Given the description of an element on the screen output the (x, y) to click on. 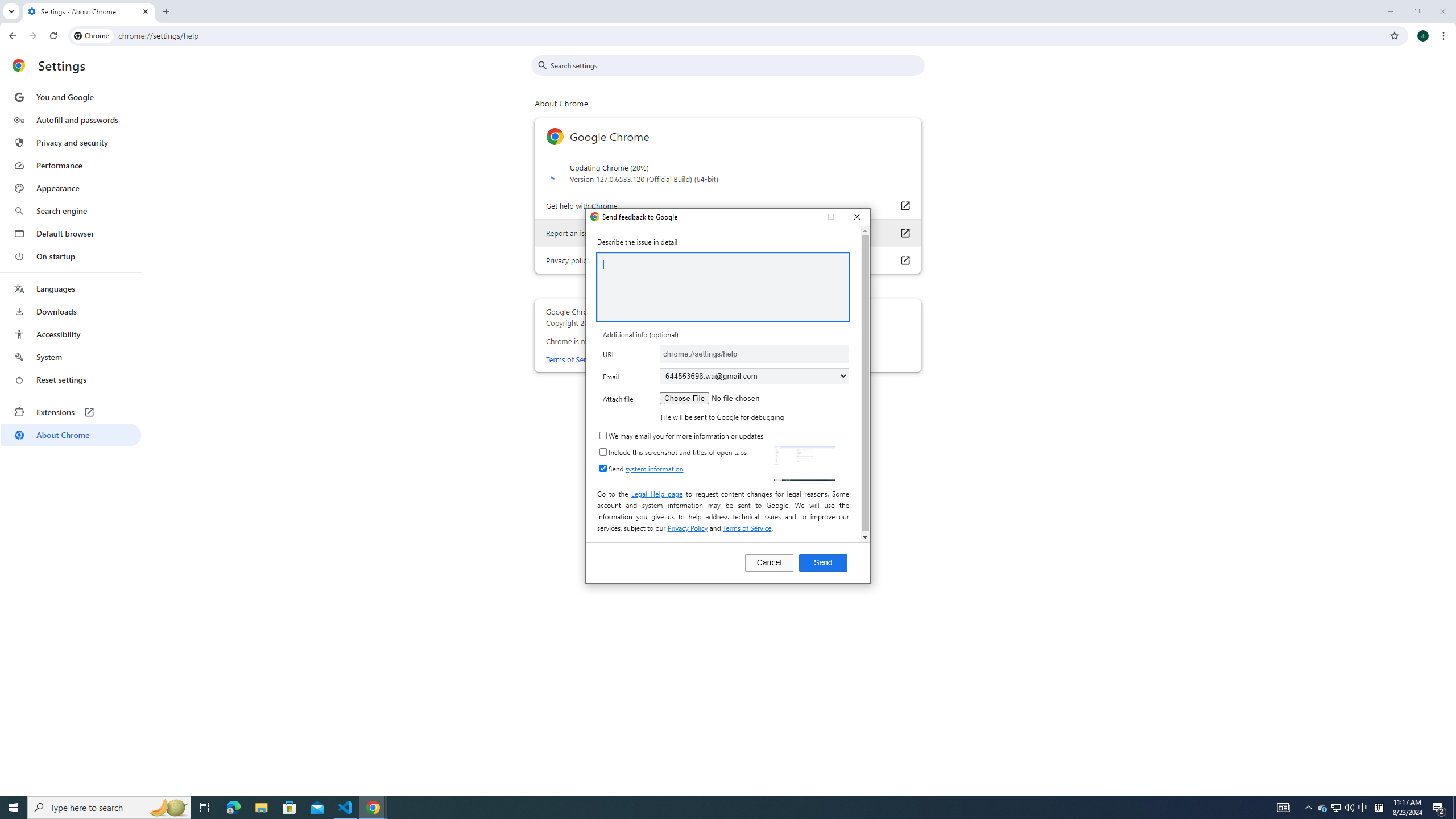
Privacy and security (70, 142)
Reset settings (70, 379)
Tray Input Indicator - Chinese (Simplified, China) (1378, 807)
Settings - About Chrome (88, 11)
Send system information (603, 467)
Action Center, 2 new notifications (1439, 807)
On startup (70, 255)
Accessibility (70, 333)
User Promoted Notification Area (1336, 807)
Extensions (70, 412)
Start (13, 807)
Include this screenshot and titles of open tabs (603, 451)
